Given the description of an element on the screen output the (x, y) to click on. 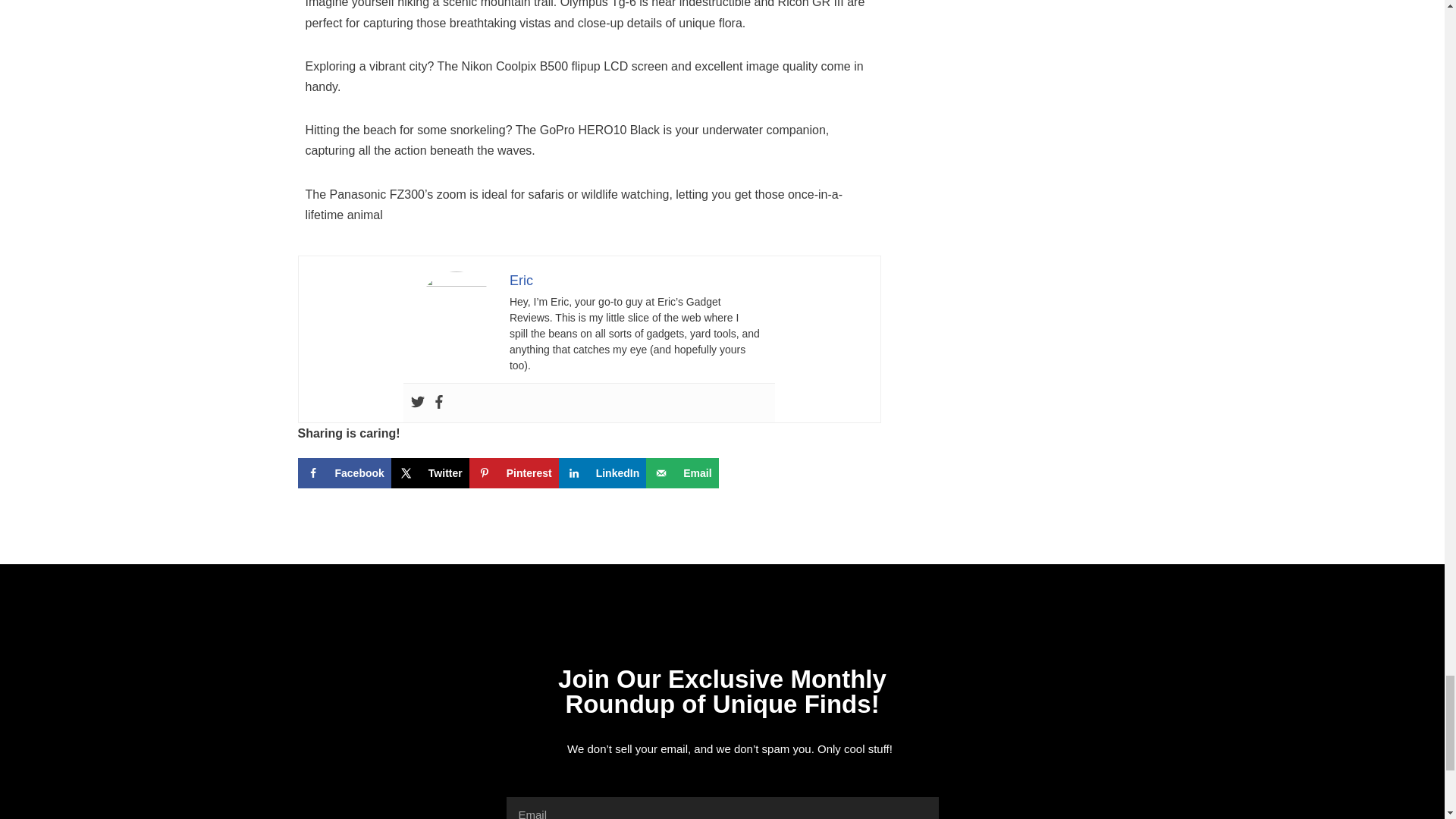
Facebook (438, 402)
Twitter (417, 402)
